Given the description of an element on the screen output the (x, y) to click on. 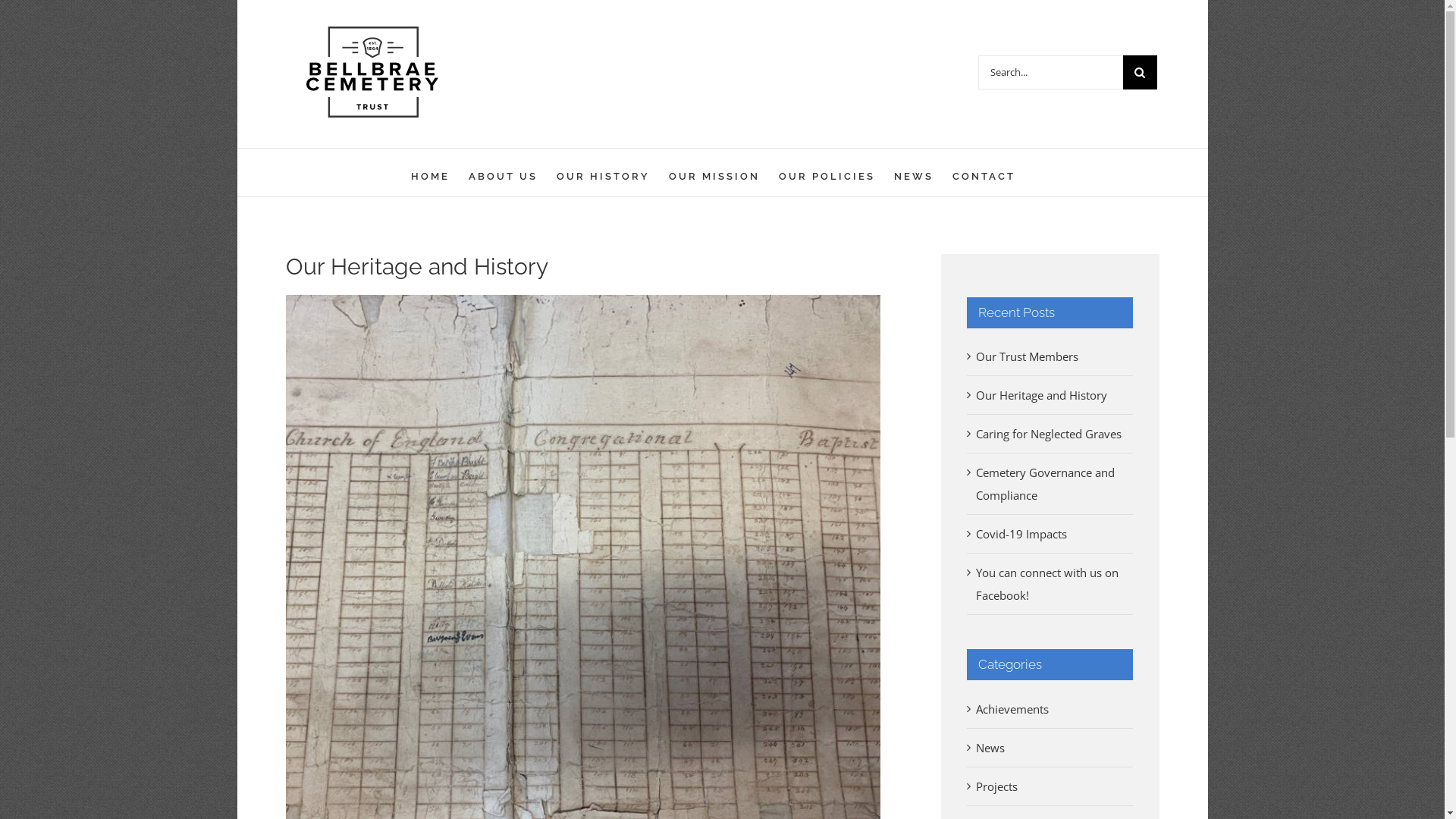
Achievements Element type: text (1050, 708)
Caring for Neglected Graves Element type: text (1048, 433)
OUR HISTORY Element type: text (602, 172)
You can connect with us on Facebook! Element type: text (1046, 583)
Our Trust Members Element type: text (1026, 356)
OUR MISSION Element type: text (713, 172)
NEWS Element type: text (912, 172)
Cemetery Governance and Compliance Element type: text (1044, 483)
CONTACT Element type: text (983, 172)
ABOUT US Element type: text (502, 172)
Our Heritage and History Element type: text (1041, 394)
Projects Element type: text (1050, 786)
OUR POLICIES Element type: text (826, 172)
News Element type: text (1050, 747)
Covid-19 Impacts Element type: text (1020, 533)
HOME Element type: text (430, 172)
